Given the description of an element on the screen output the (x, y) to click on. 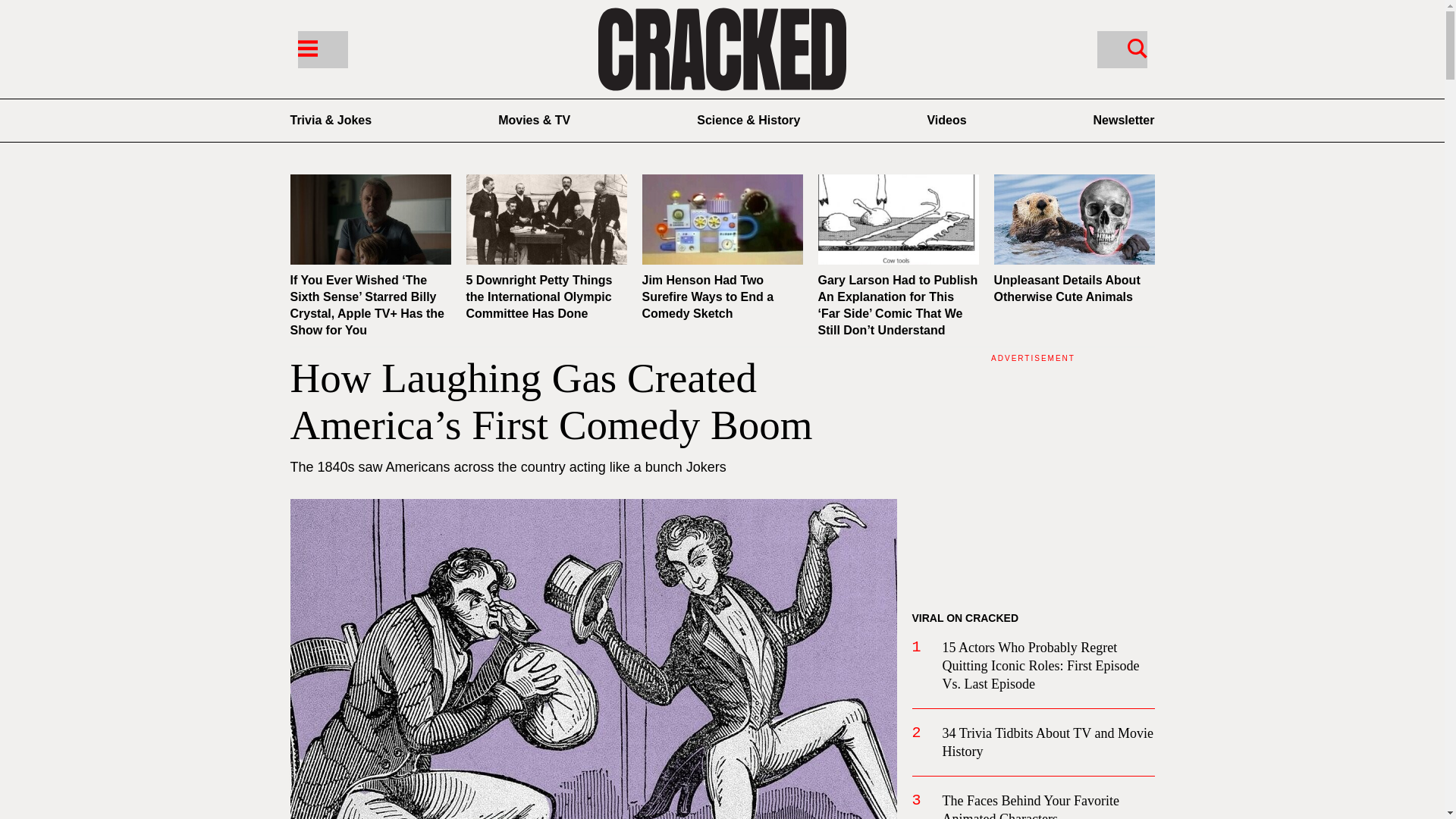
Videos (946, 119)
Jim Henson Had Two Surefire Ways to End a Comedy Sketch (707, 296)
Search (1121, 48)
Newsletter (1123, 119)
Search (1136, 47)
Menu (307, 47)
Unpleasant Details About Otherwise Cute Animals (1066, 288)
Menu (322, 48)
Cracked Newsletter (1123, 119)
Videos (946, 119)
